Given the description of an element on the screen output the (x, y) to click on. 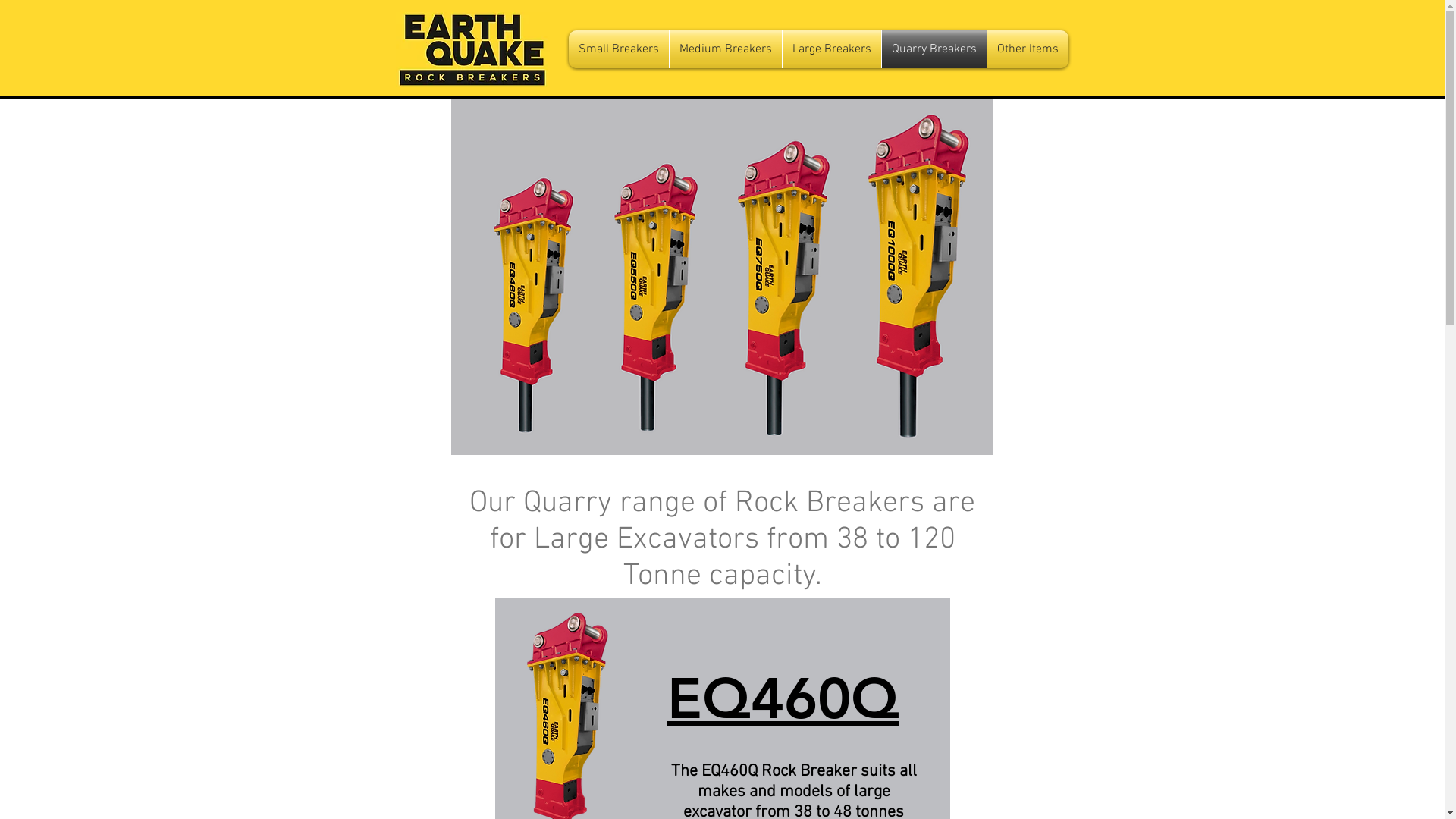
EQ460Q Element type: text (783, 703)
Quarry Breakers Element type: text (933, 49)
Large Breakers Element type: text (831, 49)
Medium Breakers Element type: text (724, 49)
Other Items Element type: text (1027, 49)
Small Breakers Element type: text (618, 49)
